Given the description of an element on the screen output the (x, y) to click on. 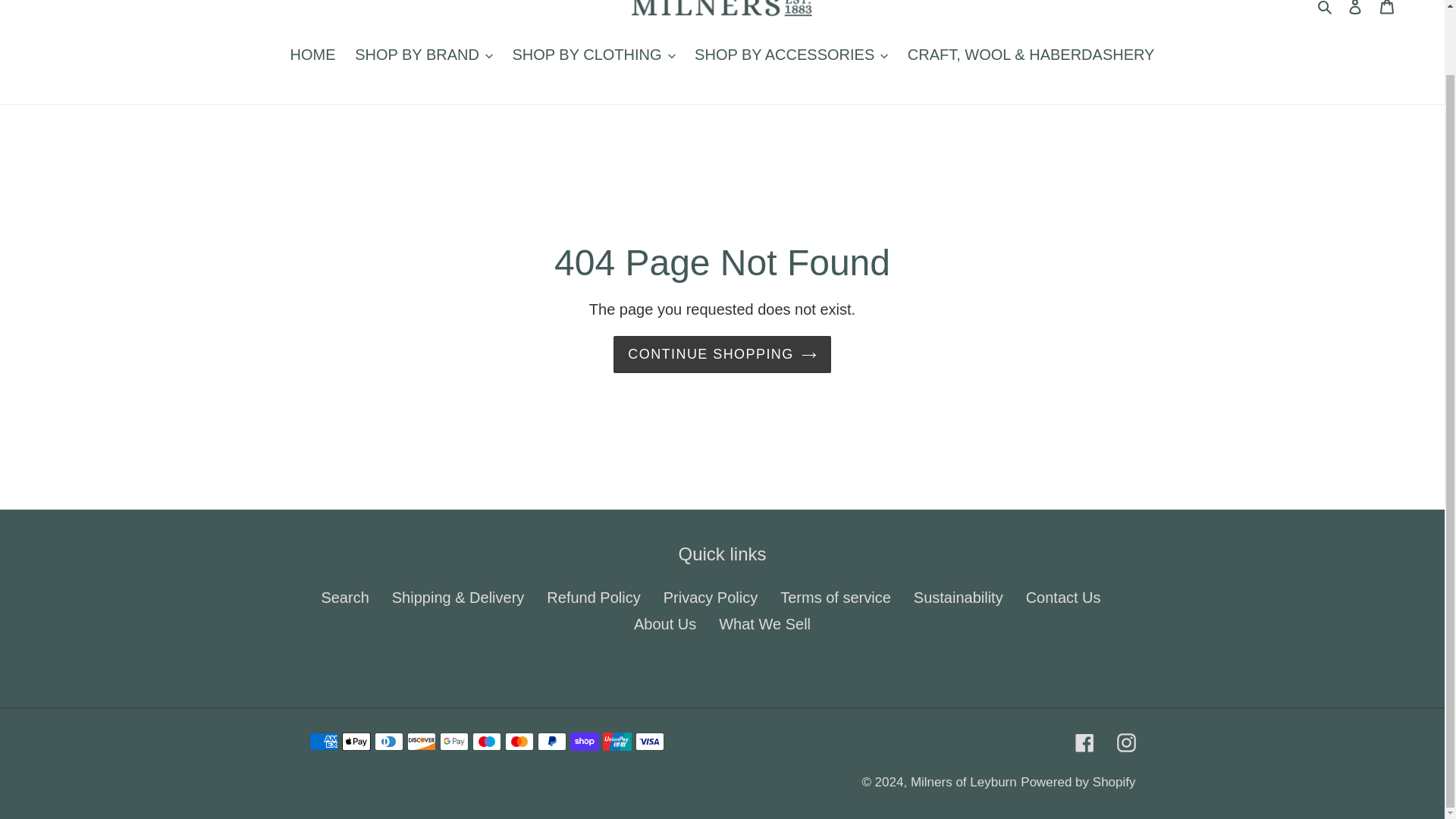
Log in (1355, 12)
Search (1326, 8)
Cart (1387, 12)
